Given the description of an element on the screen output the (x, y) to click on. 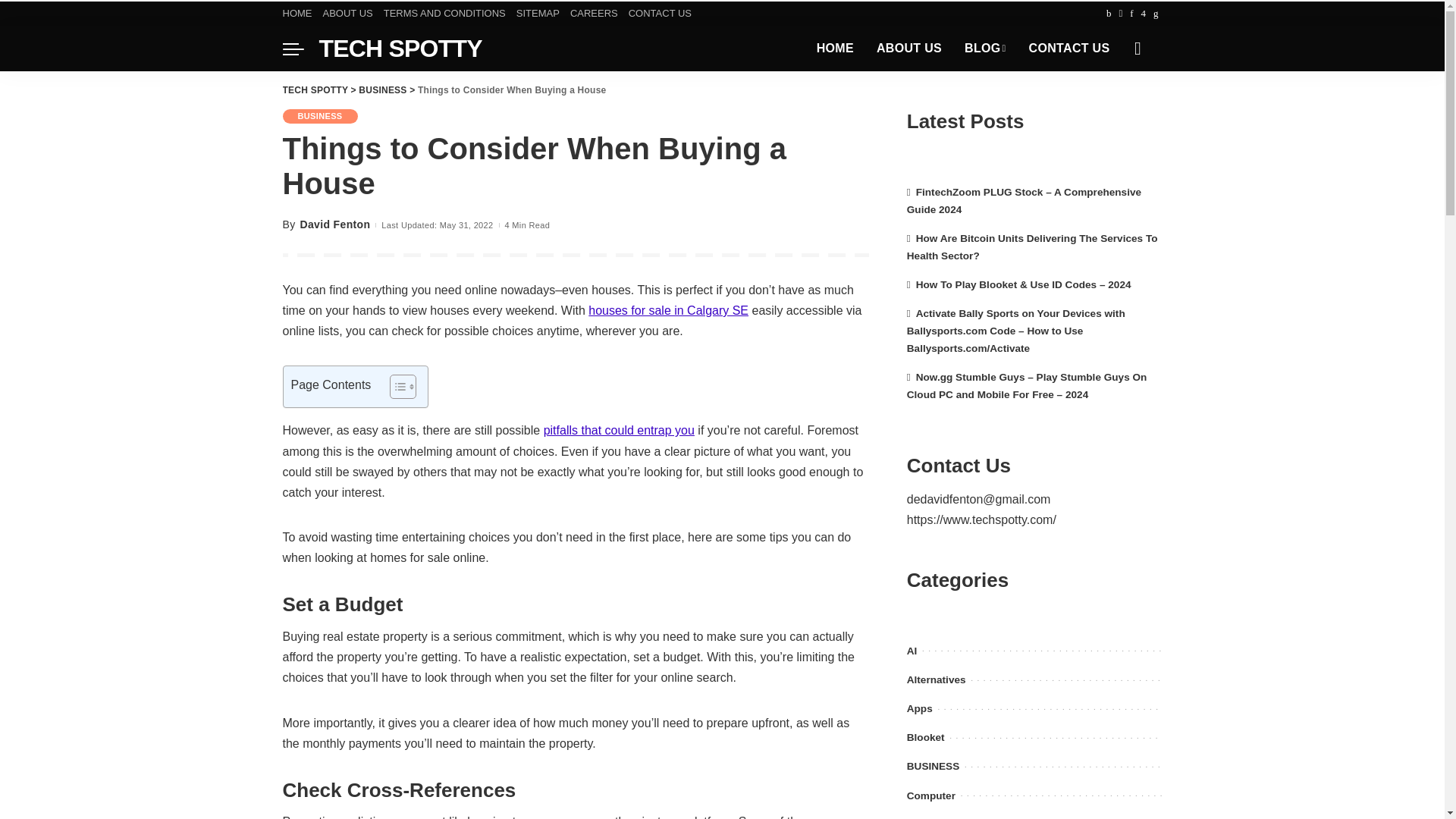
LinkedIn (1155, 13)
Instagram (1143, 13)
Facebook (1108, 13)
Pinterest (1131, 13)
Twitter (1120, 13)
